Given the description of an element on the screen output the (x, y) to click on. 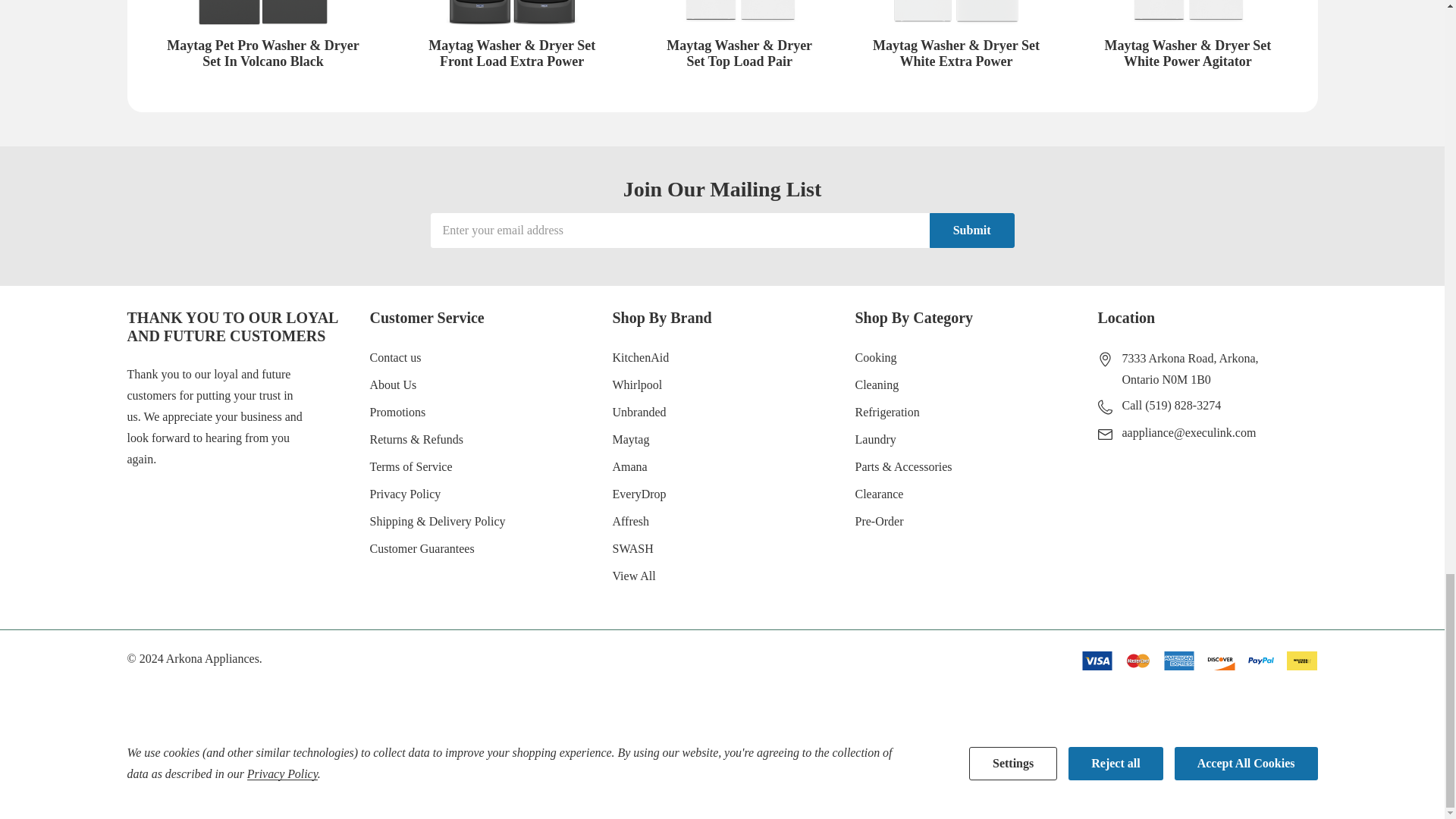
Submit (972, 230)
